Given the description of an element on the screen output the (x, y) to click on. 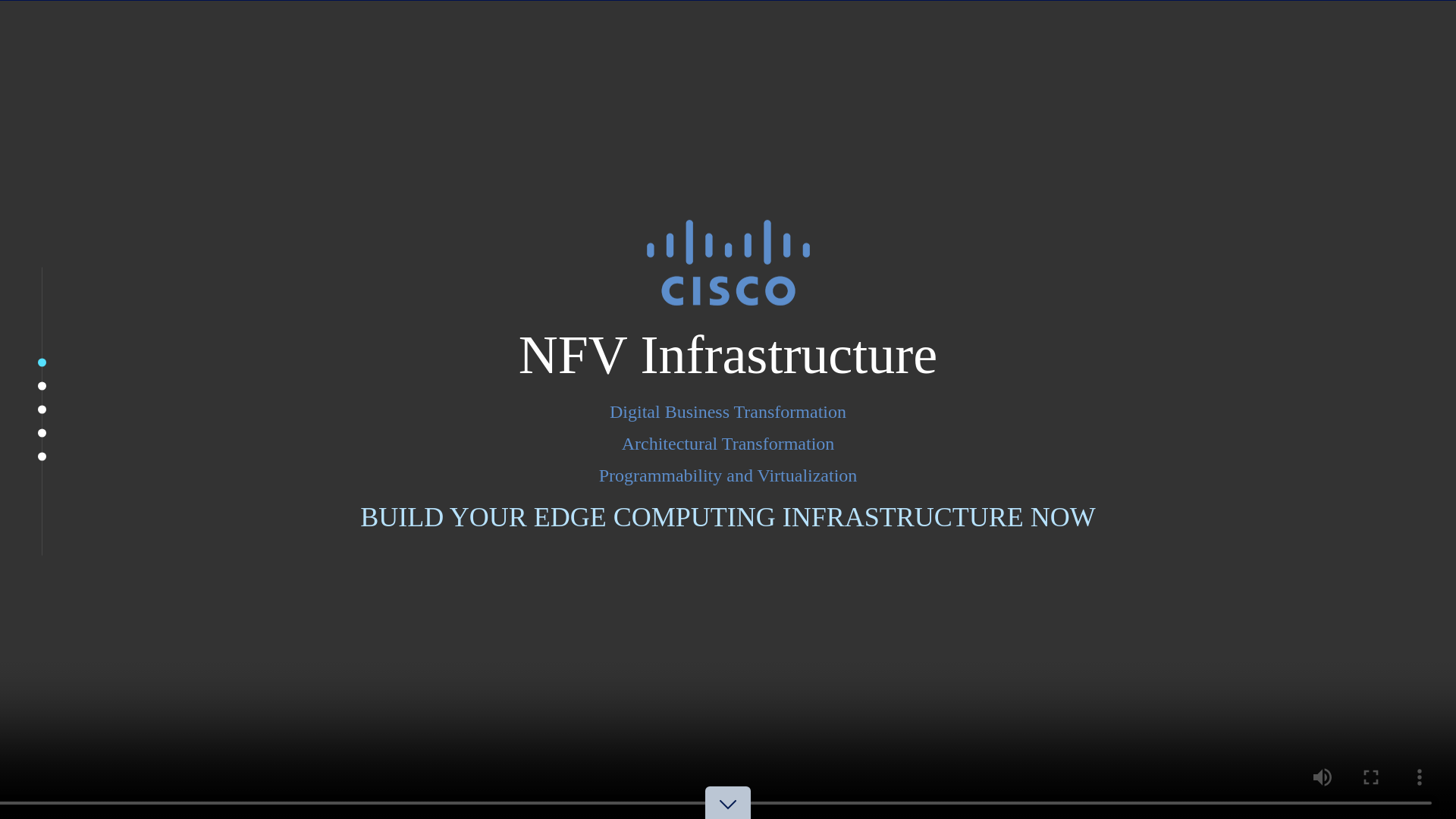
Scroll Down (727, 818)
